Given the description of an element on the screen output the (x, y) to click on. 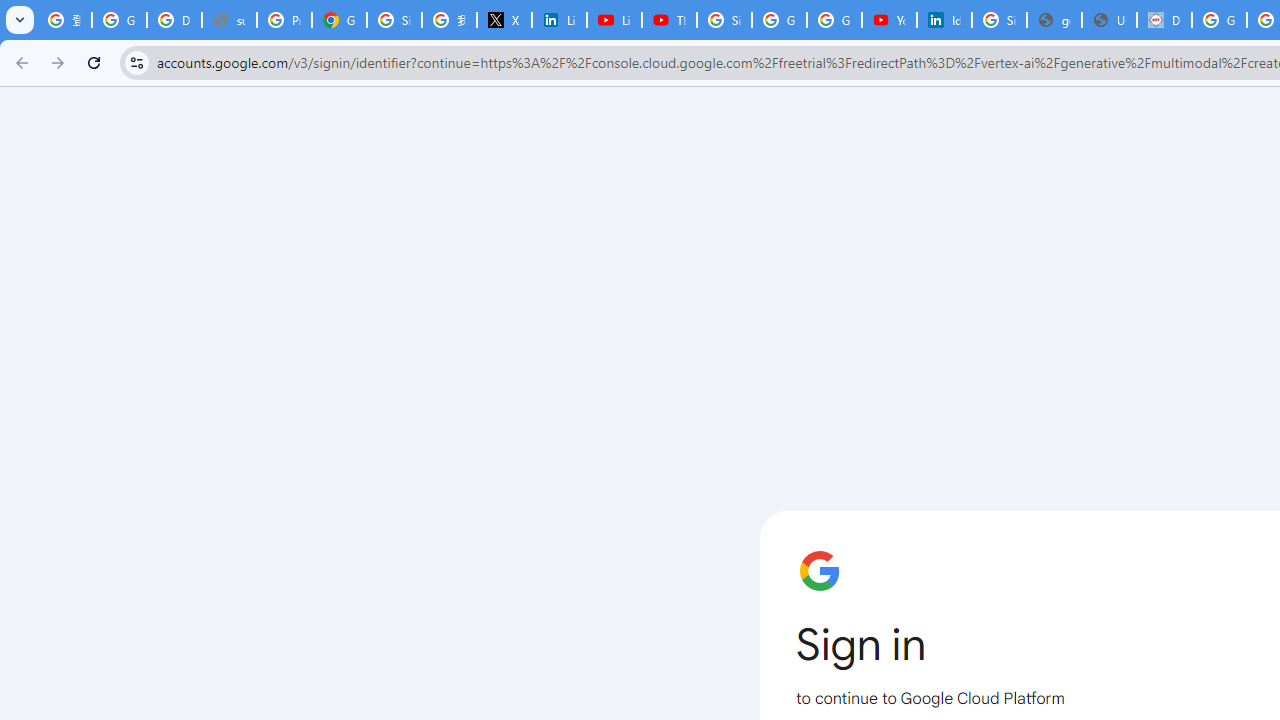
Privacy Help Center - Policies Help (284, 20)
LinkedIn - YouTube (614, 20)
support.google.com - Network error (229, 20)
Sign in - Google Accounts (724, 20)
